Given the description of an element on the screen output the (x, y) to click on. 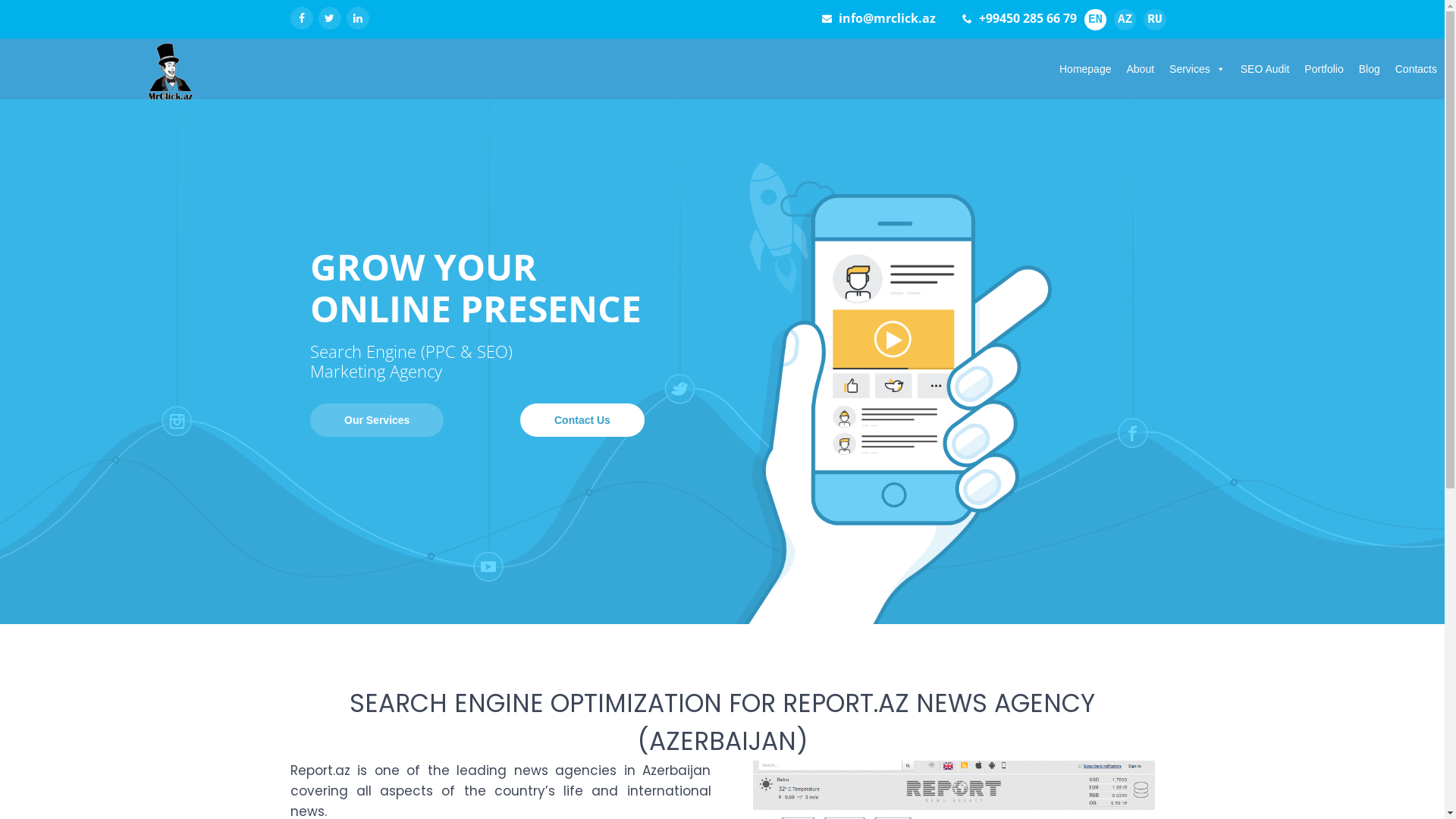
+99450 285 66 79 Element type: text (1027, 17)
EN Element type: text (1095, 19)
SEO Audit Element type: text (1265, 68)
About Element type: text (1139, 68)
Contacts Element type: text (1415, 68)
Services Element type: text (1197, 68)
Homepage Element type: text (1085, 68)
Portfolio Element type: text (1323, 68)
Blog Element type: text (1369, 68)
info@mrclick.az Element type: text (886, 17)
AZ Element type: text (1124, 19)
RU Element type: text (1154, 19)
